Given the description of an element on the screen output the (x, y) to click on. 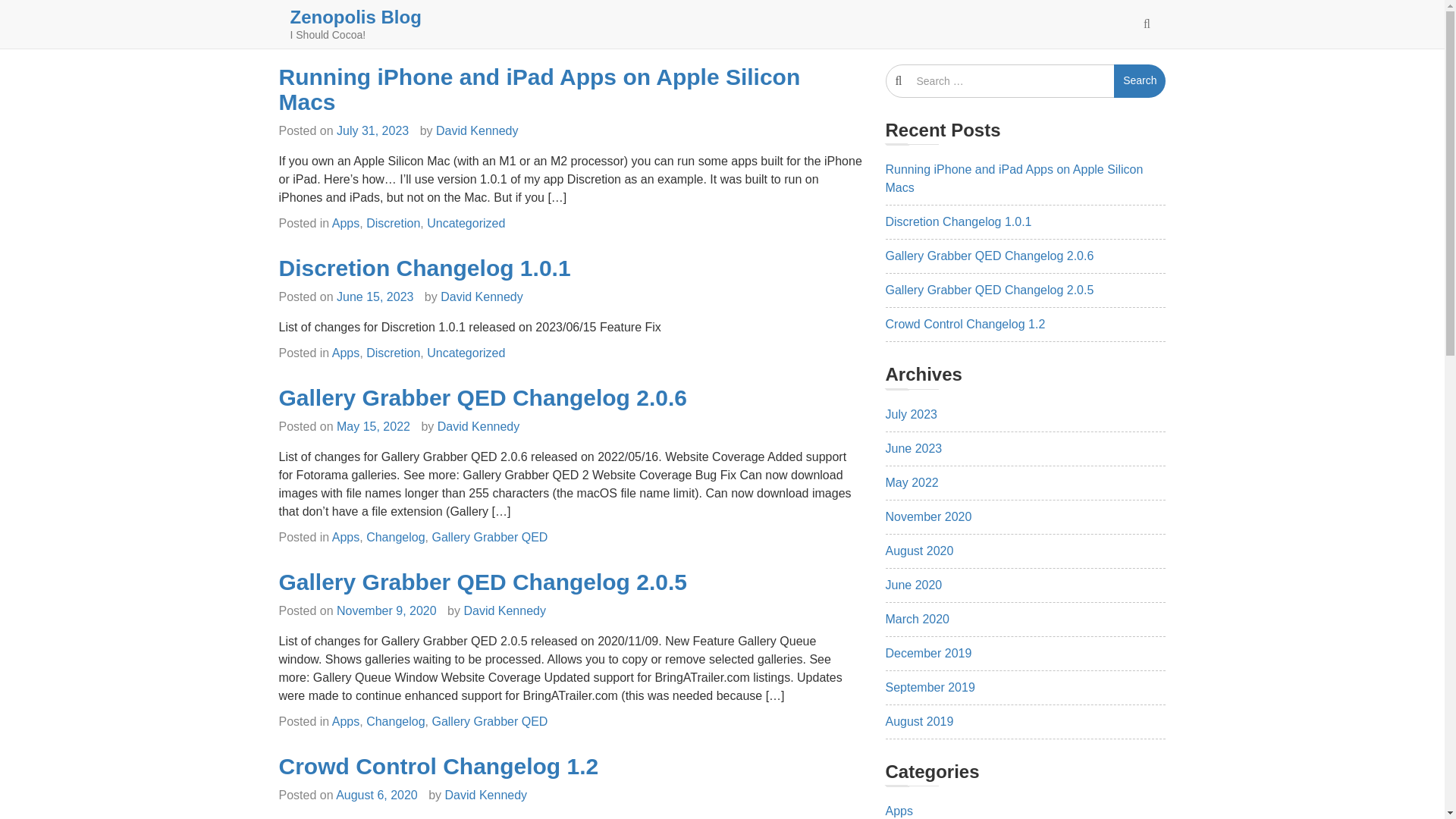
Apps (345, 721)
Uncategorized (465, 352)
Discretion (393, 352)
Uncategorized (465, 223)
Gallery Grabber QED (488, 721)
Crowd Control Changelog 1.2 (438, 765)
David Kennedy (476, 130)
Apps (345, 352)
Gallery Grabber QED Changelog 2.0.6 (483, 397)
David Kennedy (504, 610)
August 6, 2020 (376, 794)
June 15, 2023 (374, 296)
Changelog (395, 721)
David Kennedy (481, 296)
Gallery Grabber QED Changelog 2.0.5 (483, 581)
